Given the description of an element on the screen output the (x, y) to click on. 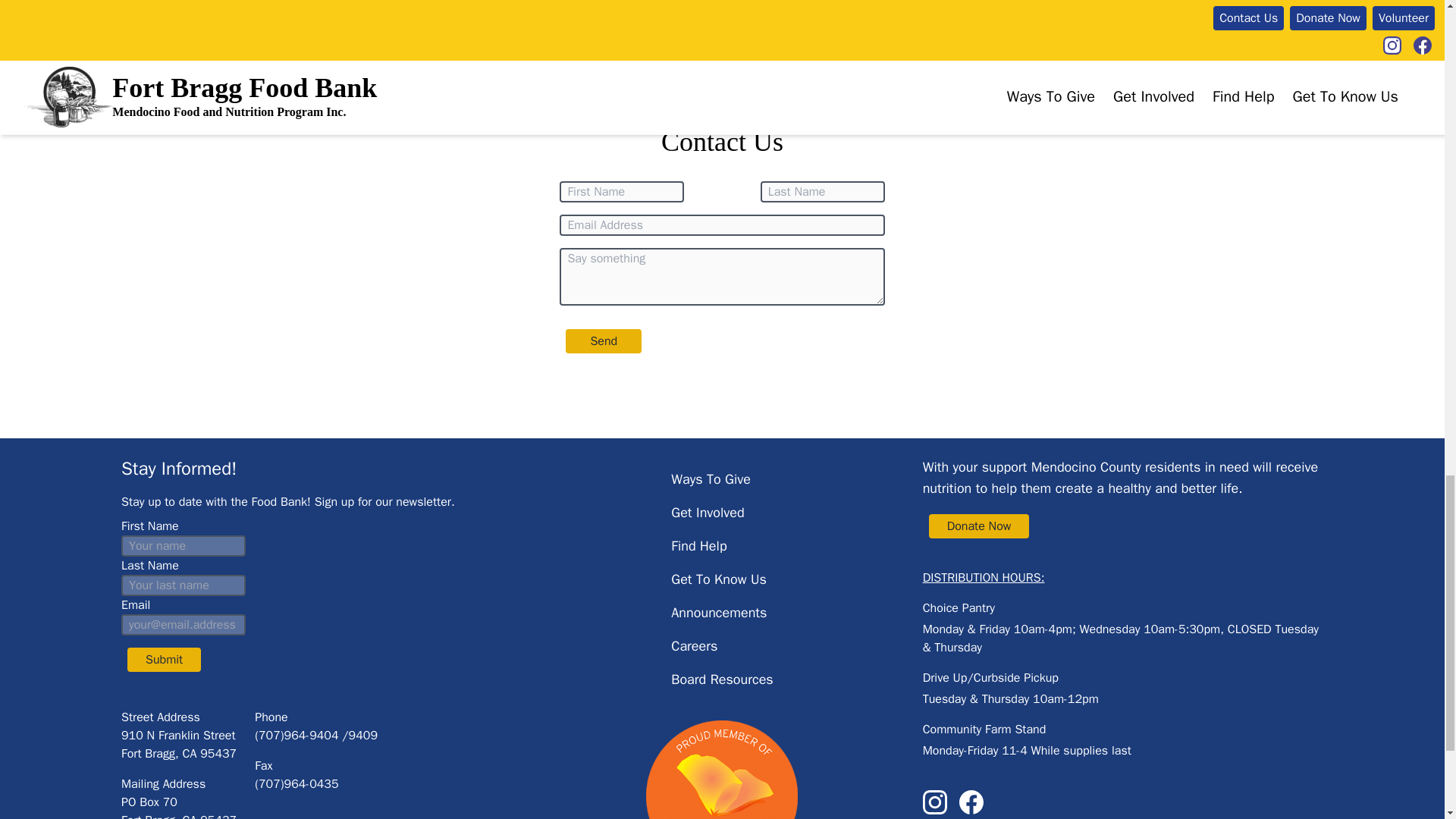
Get To Know Us (719, 579)
Send (604, 340)
Donate Now (979, 525)
Board Resources (722, 678)
Find Help (698, 545)
Donate Now (978, 526)
Announcements (719, 612)
Ways To Give (711, 478)
Submit (164, 659)
More Posts... (607, 8)
